Given the description of an element on the screen output the (x, y) to click on. 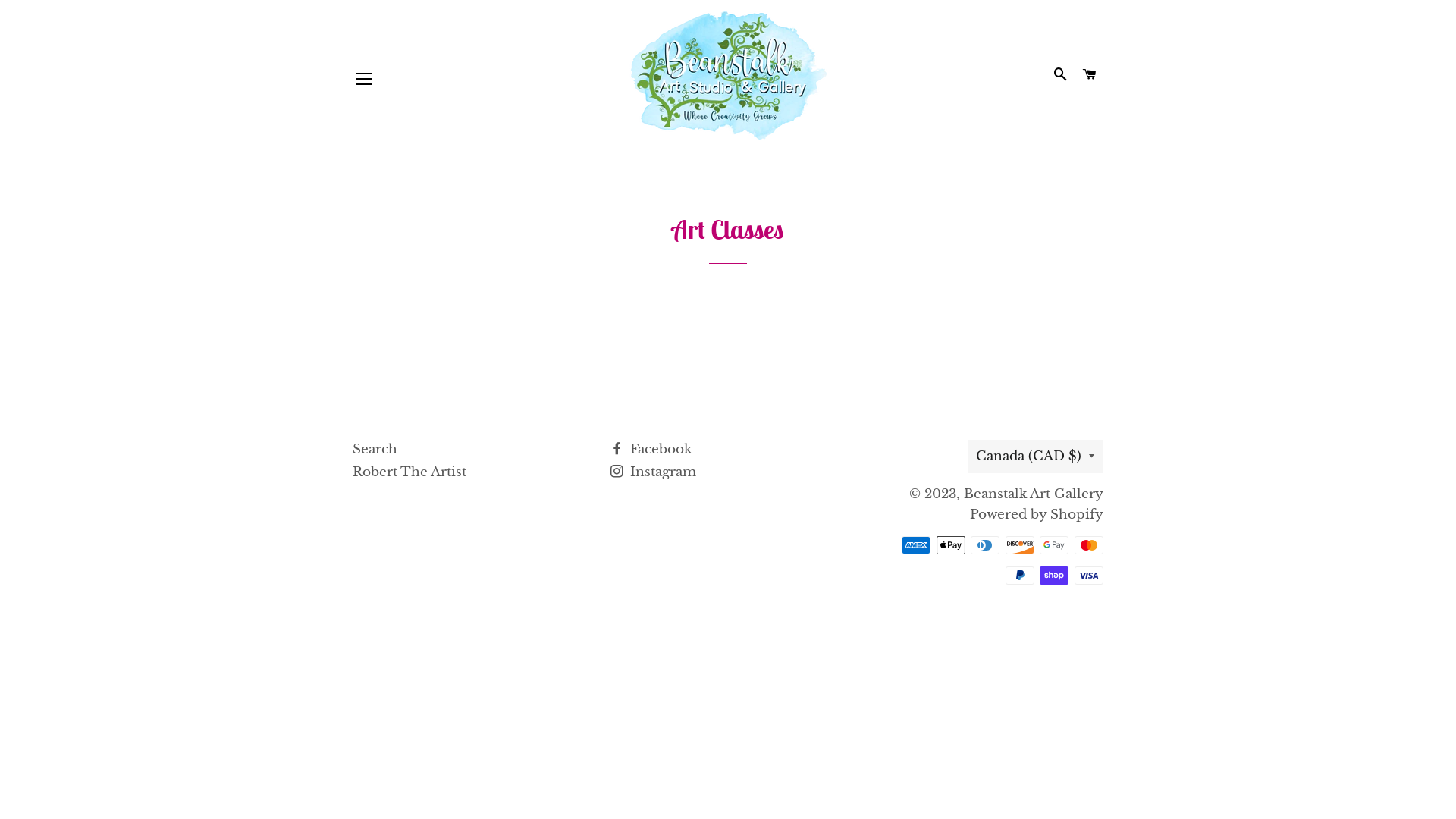
Robert The Artist Element type: text (409, 472)
Instagram Element type: text (653, 472)
SEARCH Element type: text (1060, 75)
Canada (CAD $) Element type: text (1035, 456)
CART Element type: text (1090, 75)
Search Element type: text (374, 449)
Facebook Element type: text (650, 449)
SITE NAVIGATION Element type: text (363, 78)
Beanstalk Art Gallery Element type: text (1033, 494)
Powered by Shopify Element type: text (1036, 514)
